Given the description of an element on the screen output the (x, y) to click on. 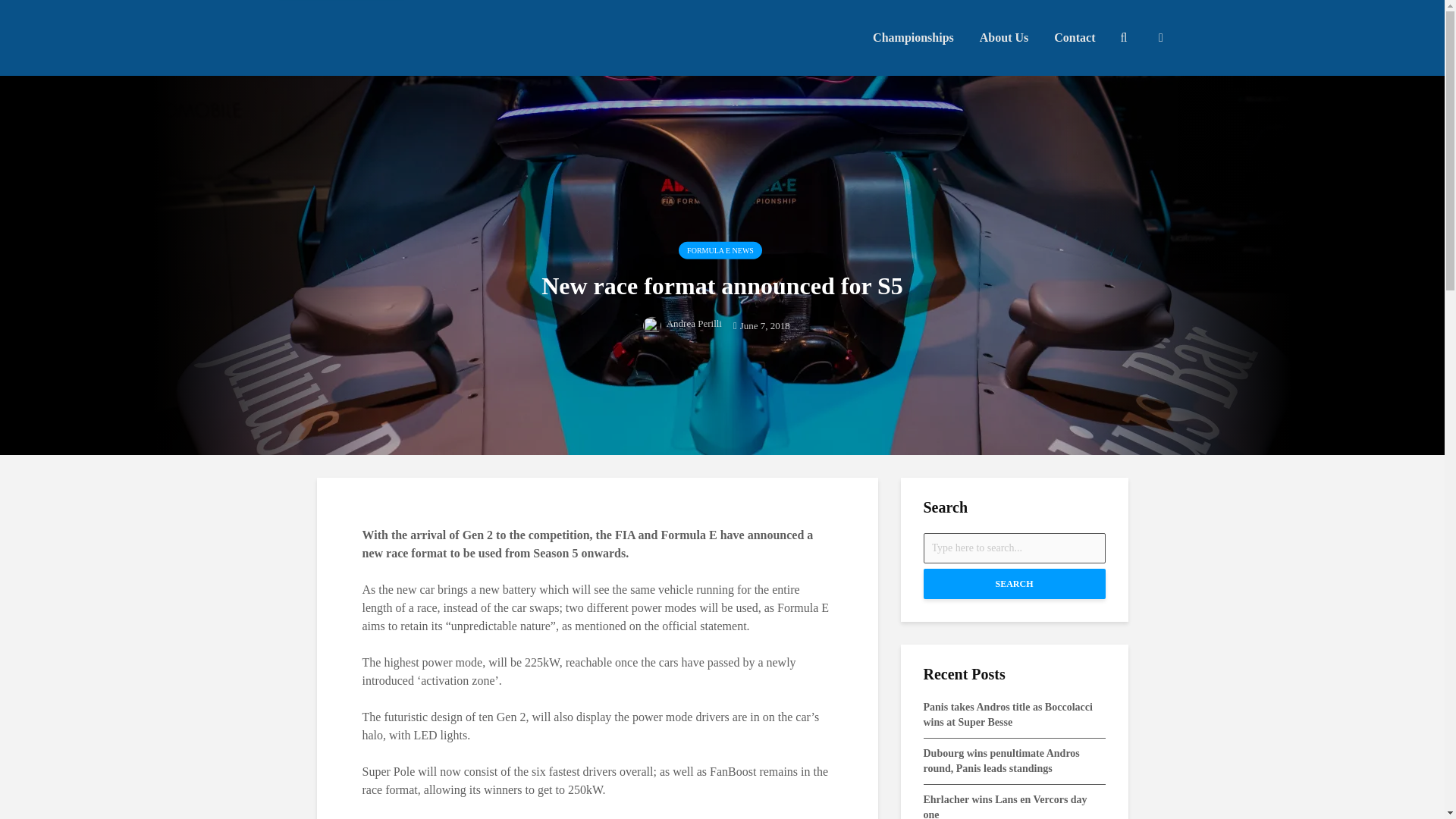
FORMULA E NEWS (719, 250)
Contact (1074, 37)
About Us (1003, 37)
Andrea Perilli (682, 322)
Championships (913, 37)
